Given the description of an element on the screen output the (x, y) to click on. 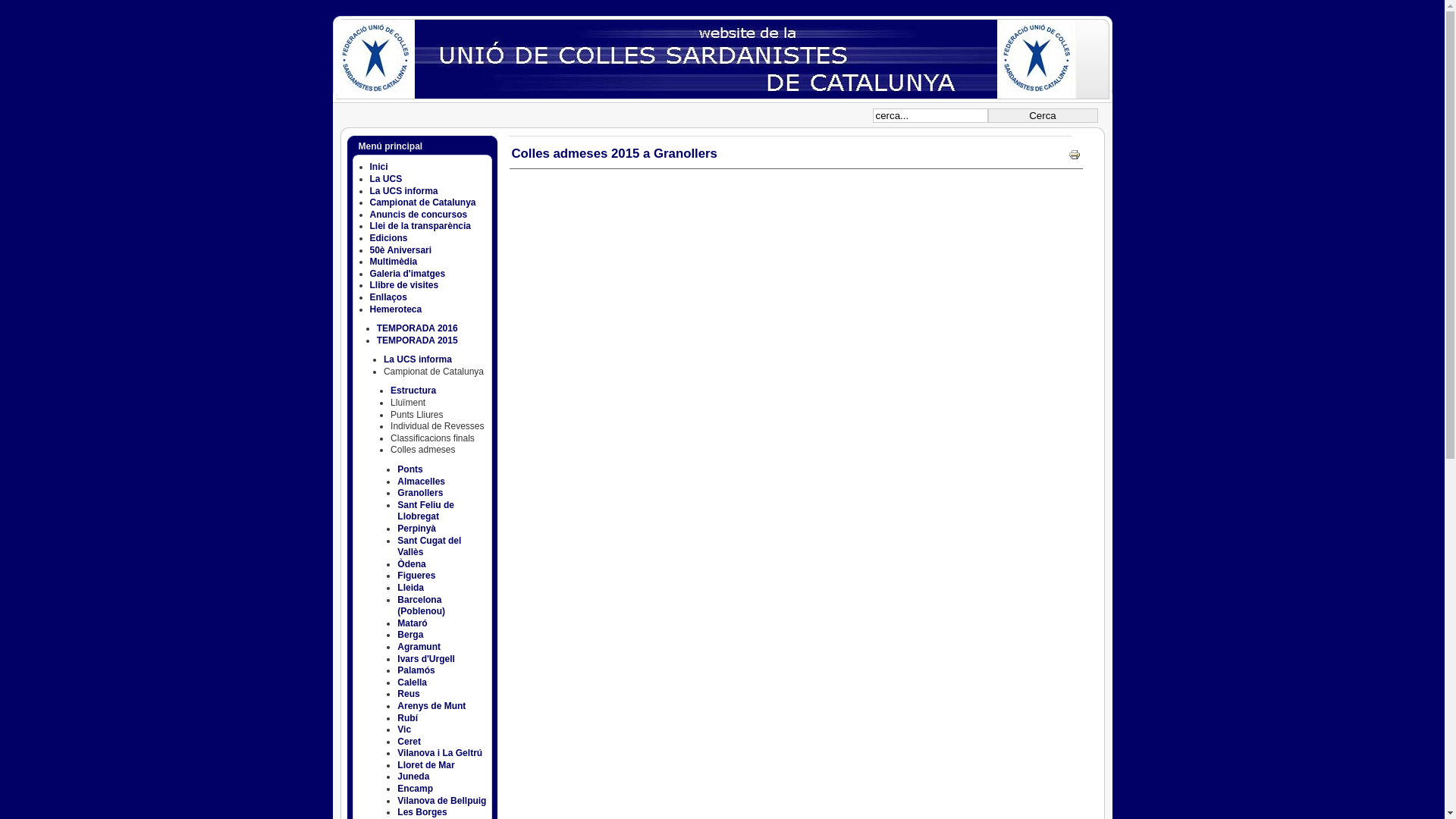
Encamp Element type: text (415, 788)
Agramunt Element type: text (418, 646)
Hemeroteca Element type: text (396, 308)
TEMPORADA 2015 Element type: text (417, 340)
Figueres Element type: text (416, 575)
Vilanova de Bellpuig Element type: text (441, 800)
Ponts Element type: text (409, 469)
TEMPORADA 2016 Element type: text (417, 328)
Vic Element type: text (404, 729)
La UCS informa Element type: text (404, 190)
Llibre de visites Element type: text (404, 284)
Sant Feliu de Llobregat Element type: text (425, 510)
Arenys de Munt Element type: text (431, 705)
Juneda Element type: text (413, 776)
Galeria d'imatges Element type: text (407, 273)
Barcelona (Poblenou) Element type: text (421, 605)
Imprimeix Element type: hover (1073, 157)
Cerca Element type: text (1042, 115)
Inici Element type: text (379, 166)
La UCS informa Element type: text (417, 359)
Granollers Element type: text (419, 492)
Lloret de Mar Element type: text (425, 764)
Campionat de Catalunya Element type: text (423, 202)
La UCS Element type: text (386, 178)
Reus Element type: text (408, 693)
Estructura Element type: text (413, 390)
Ivars d'Urgell Element type: text (426, 658)
Almacelles Element type: text (421, 481)
Edicions Element type: text (388, 237)
Anuncis de concursos Element type: text (418, 214)
Ceret Element type: text (408, 741)
Calella Element type: text (411, 682)
Lleida Element type: text (410, 587)
Berga Element type: text (410, 634)
